Given the description of an element on the screen output the (x, y) to click on. 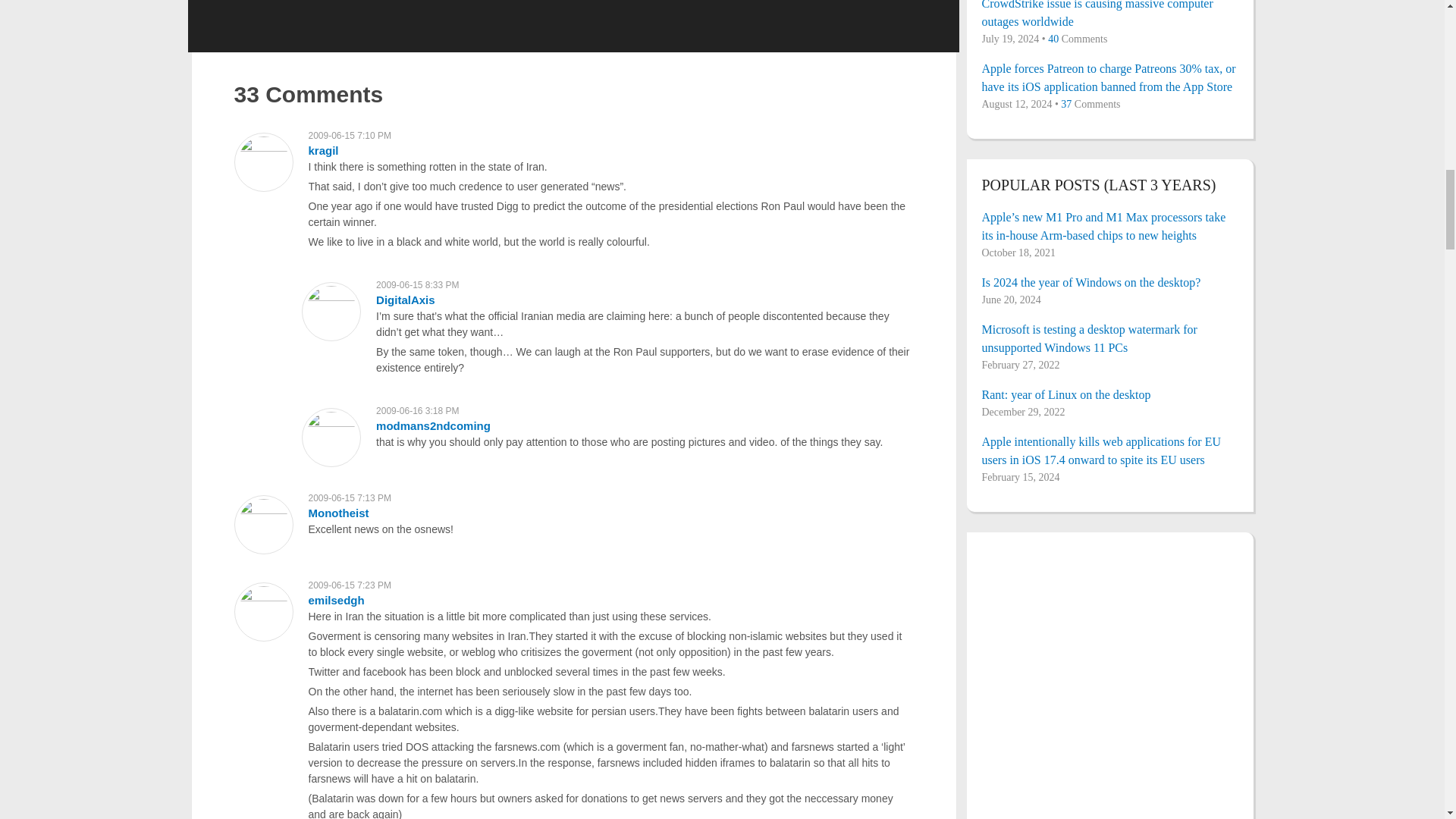
Monotheist (337, 512)
emilsedgh (335, 599)
modmans2ndcoming (432, 425)
kragil (322, 150)
DigitalAxis (405, 299)
